Given the description of an element on the screen output the (x, y) to click on. 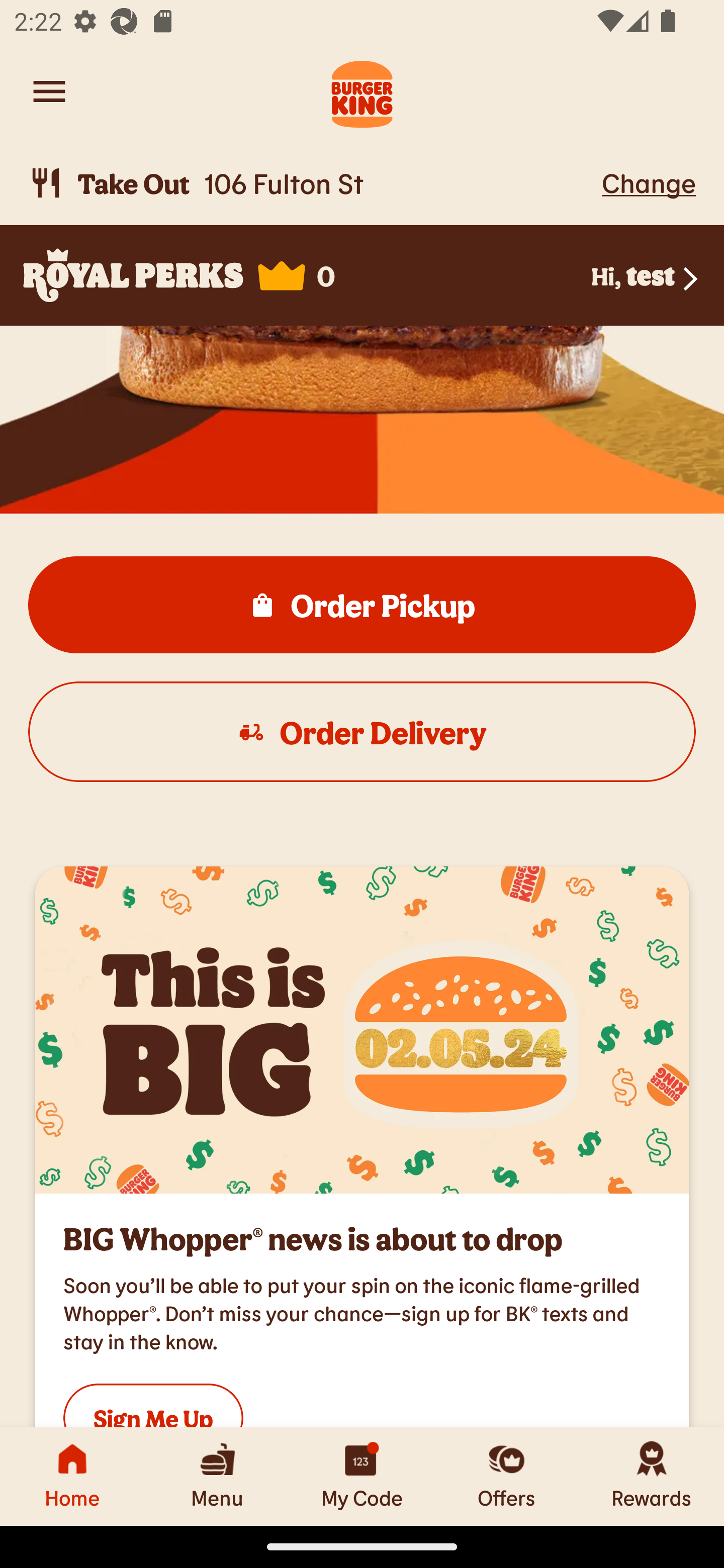
Burger King Logo. Navigate to Home (362, 91)
Navigate to account menu  (49, 91)
Take Out, 106 Fulton St  Take Out 106 Fulton St (311, 183)
Change (648, 182)
, Order Pickup  Order Pickup (361, 604)
, Order Delivery  Order Delivery (361, 732)
MDW Teaser Auth App (361, 1030)
Home (72, 1475)
Menu (216, 1475)
My Code (361, 1475)
Offers (506, 1475)
Rewards (651, 1475)
